Given the description of an element on the screen output the (x, y) to click on. 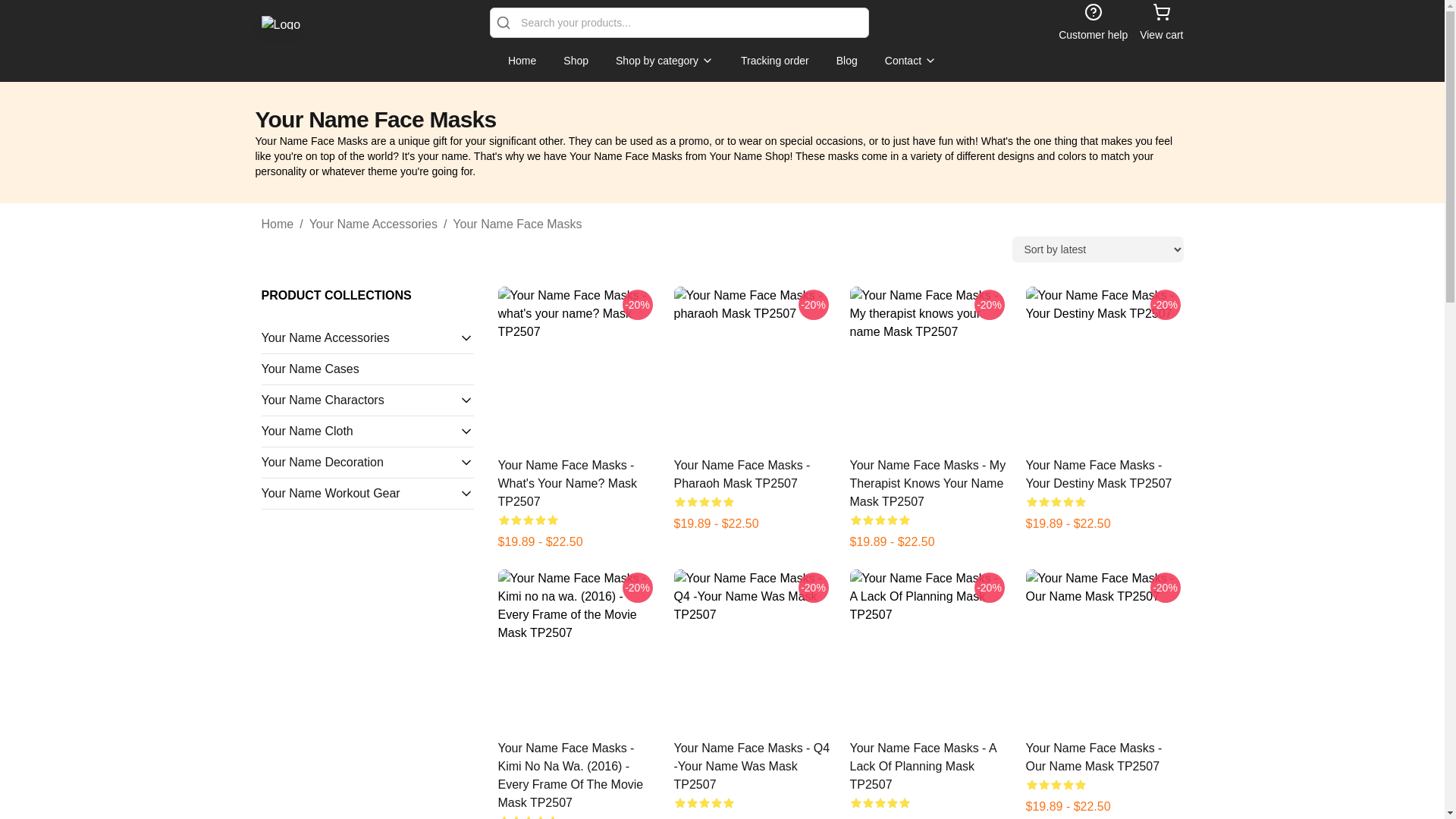
Blog (846, 60)
Your Name Shop - Official Your Name Merchandise Store (279, 22)
Your Name Accessories (359, 338)
Your Name Charactors (359, 400)
view cart (1161, 22)
Home (522, 60)
Customer help (1092, 22)
Your Name Accessories (373, 224)
Shop by category (664, 60)
Your Name Cases (366, 369)
